Given the description of an element on the screen output the (x, y) to click on. 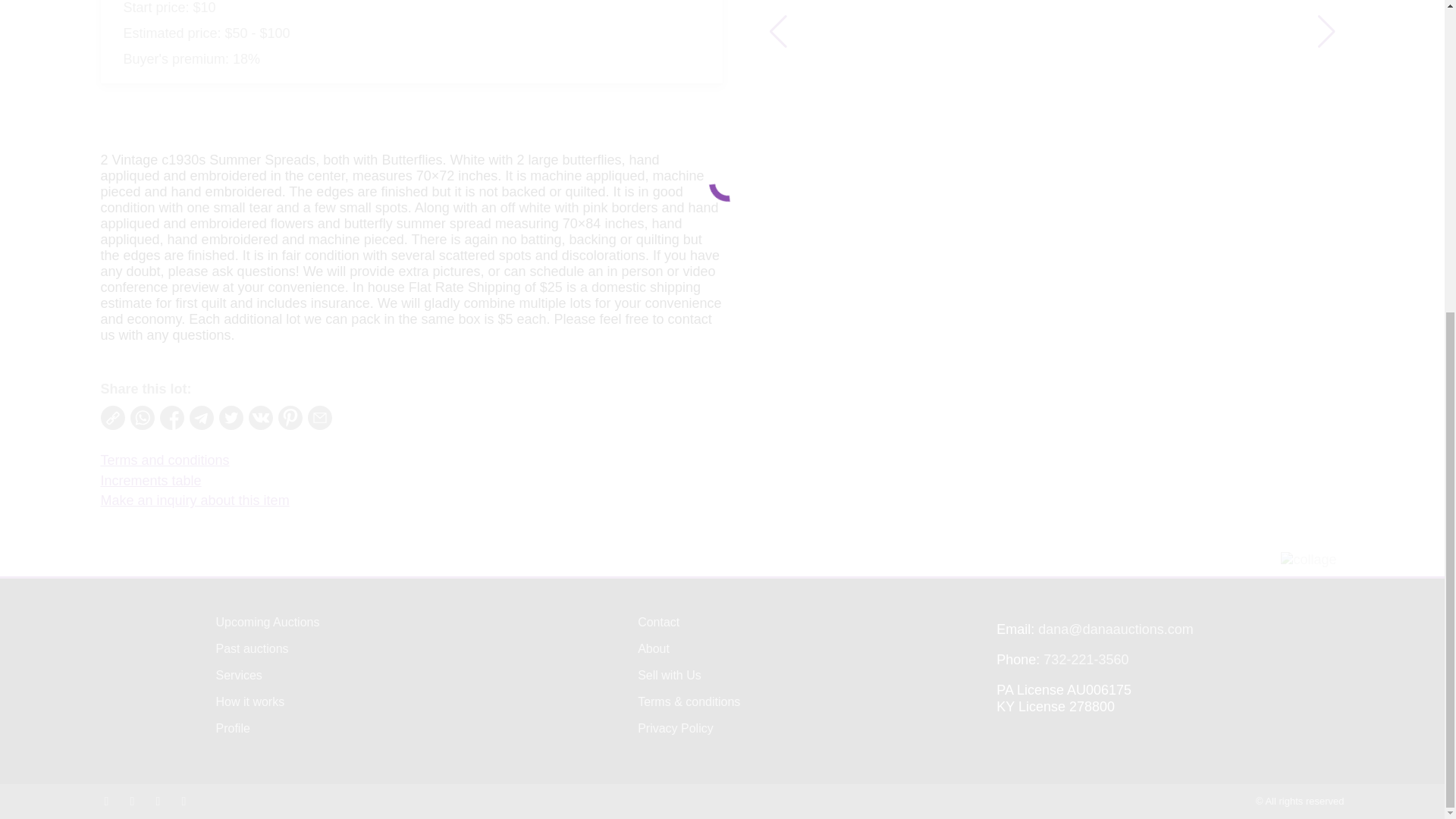
collage (1308, 560)
